Given the description of an element on the screen output the (x, y) to click on. 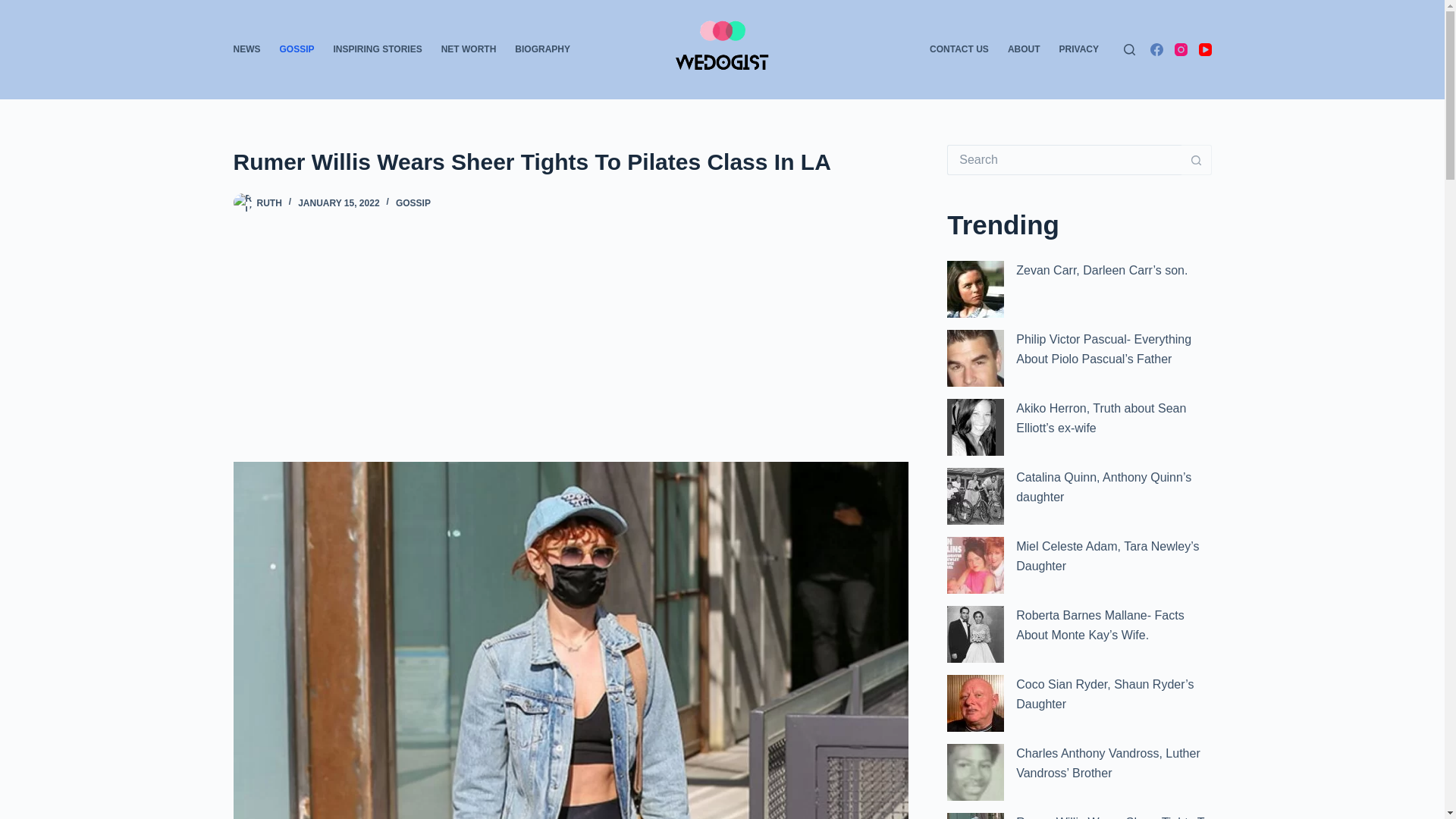
INSPIRING STORIES (376, 49)
GOSSIP (413, 203)
Search for... (1063, 159)
Skip to content (15, 7)
RUTH (268, 203)
Posts by Ruth (268, 203)
Rumer Willis Wears Sheer Tights To Pilates Class In LA (570, 161)
